Given the description of an element on the screen output the (x, y) to click on. 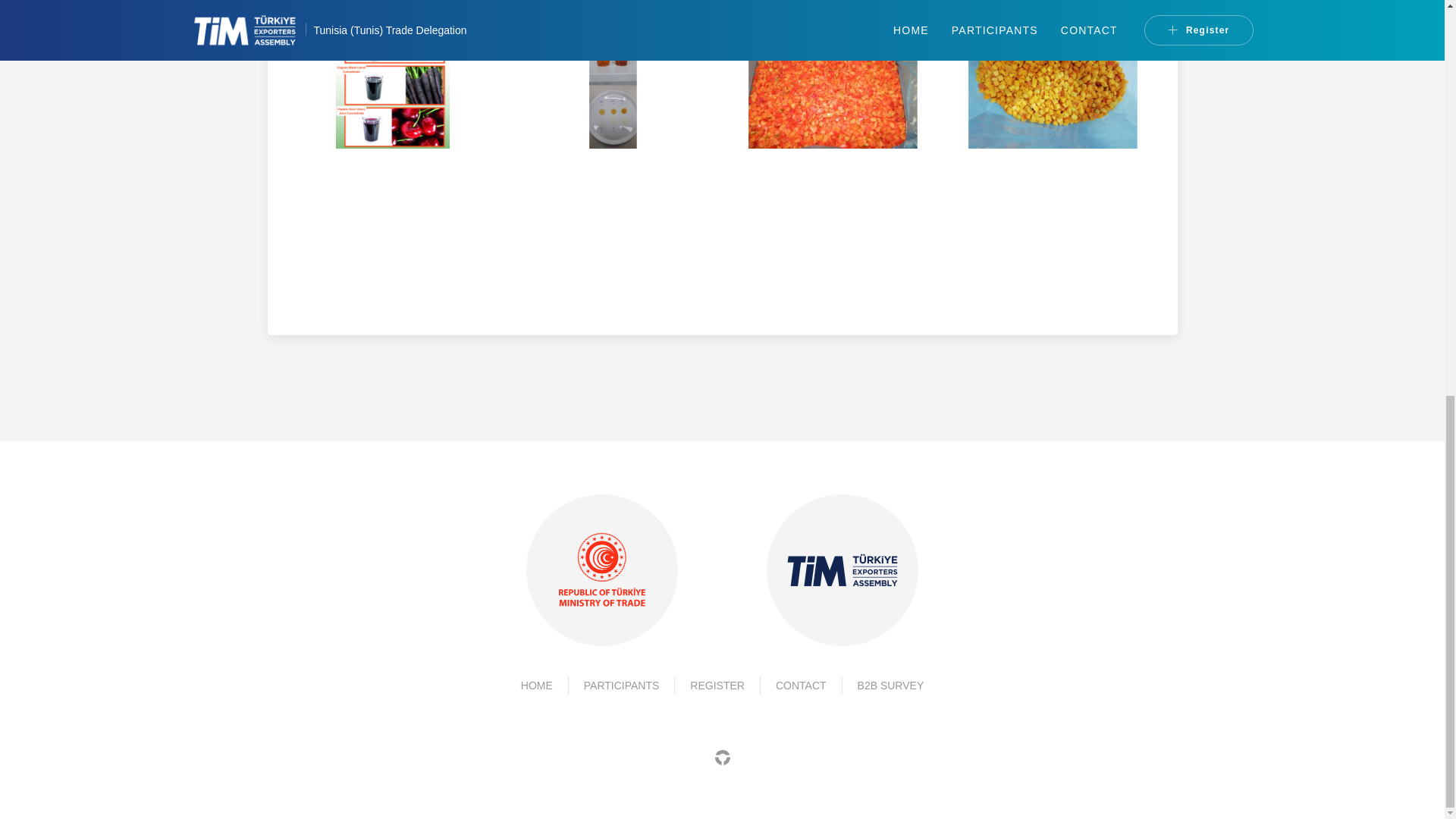
HOME (537, 685)
Participants (621, 685)
Trade Ministry (601, 570)
CONTACT (801, 685)
TIM Delegations (537, 685)
B2B SURVEY (890, 685)
PARTICIPANTS (621, 685)
REGISTER (717, 685)
Register (717, 685)
B2B Survey (890, 685)
Web Design (721, 756)
Contact (801, 685)
